Given the description of an element on the screen output the (x, y) to click on. 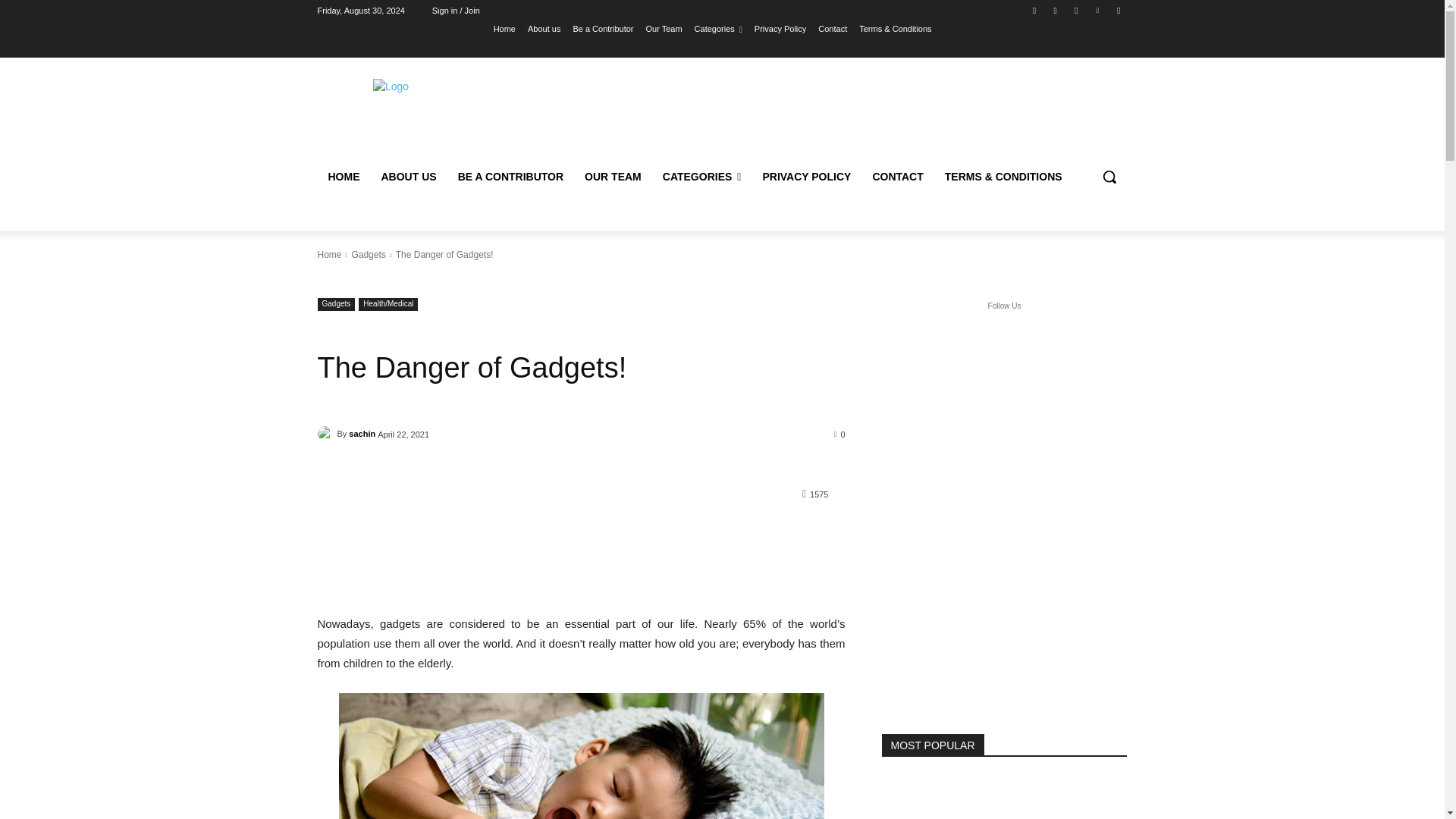
sachin (326, 433)
Home (504, 28)
About us (543, 28)
Contact (832, 28)
Twitter (1075, 9)
Categories (718, 28)
Our Team (664, 28)
Instagram (1055, 9)
Be a Contributor (602, 28)
View all posts in Gadgets (367, 254)
